Given the description of an element on the screen output the (x, y) to click on. 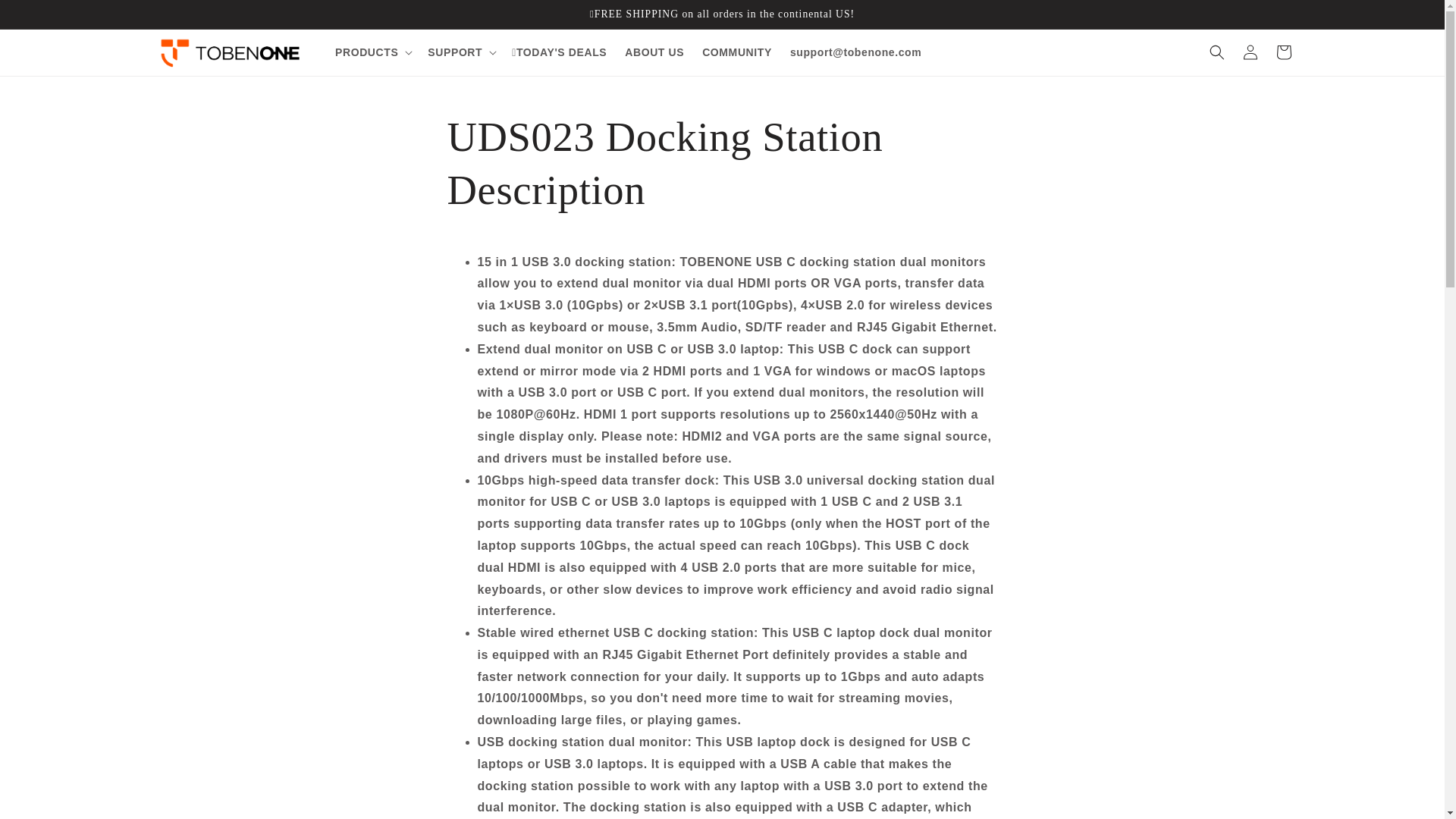
Skip to content (45, 17)
